Given the description of an element on the screen output the (x, y) to click on. 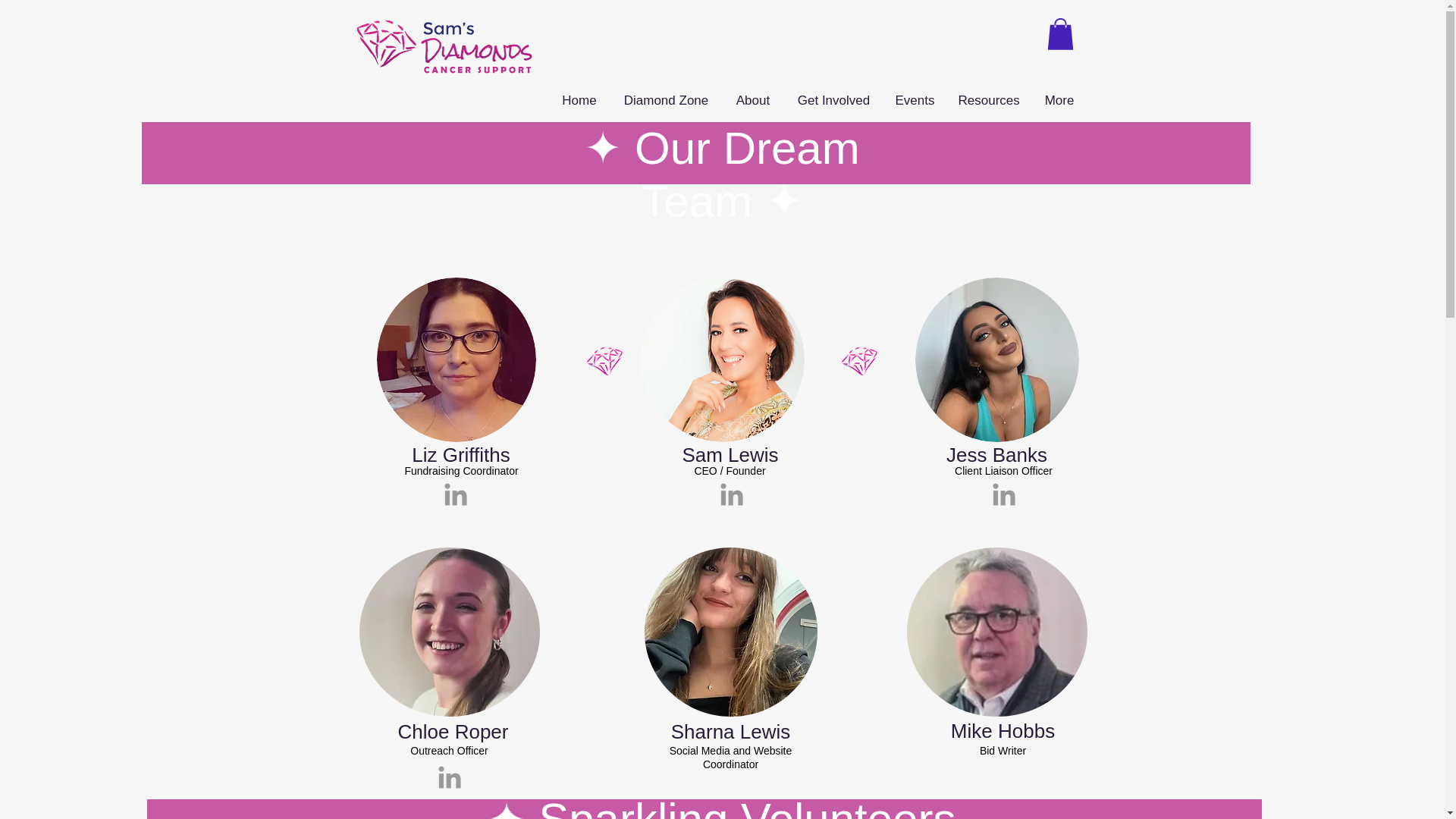
guy4.jpg (721, 359)
Sams Diamonds Logo SUPPORT no background (444, 47)
Diamond Zone (666, 100)
Get Involved (833, 100)
Diamond.png (730, 631)
Diamond.png (858, 360)
guy3.jpg (455, 359)
Events (914, 100)
guy4.jpg (996, 359)
Diamond.png (604, 360)
Home (578, 100)
